Given the description of an element on the screen output the (x, y) to click on. 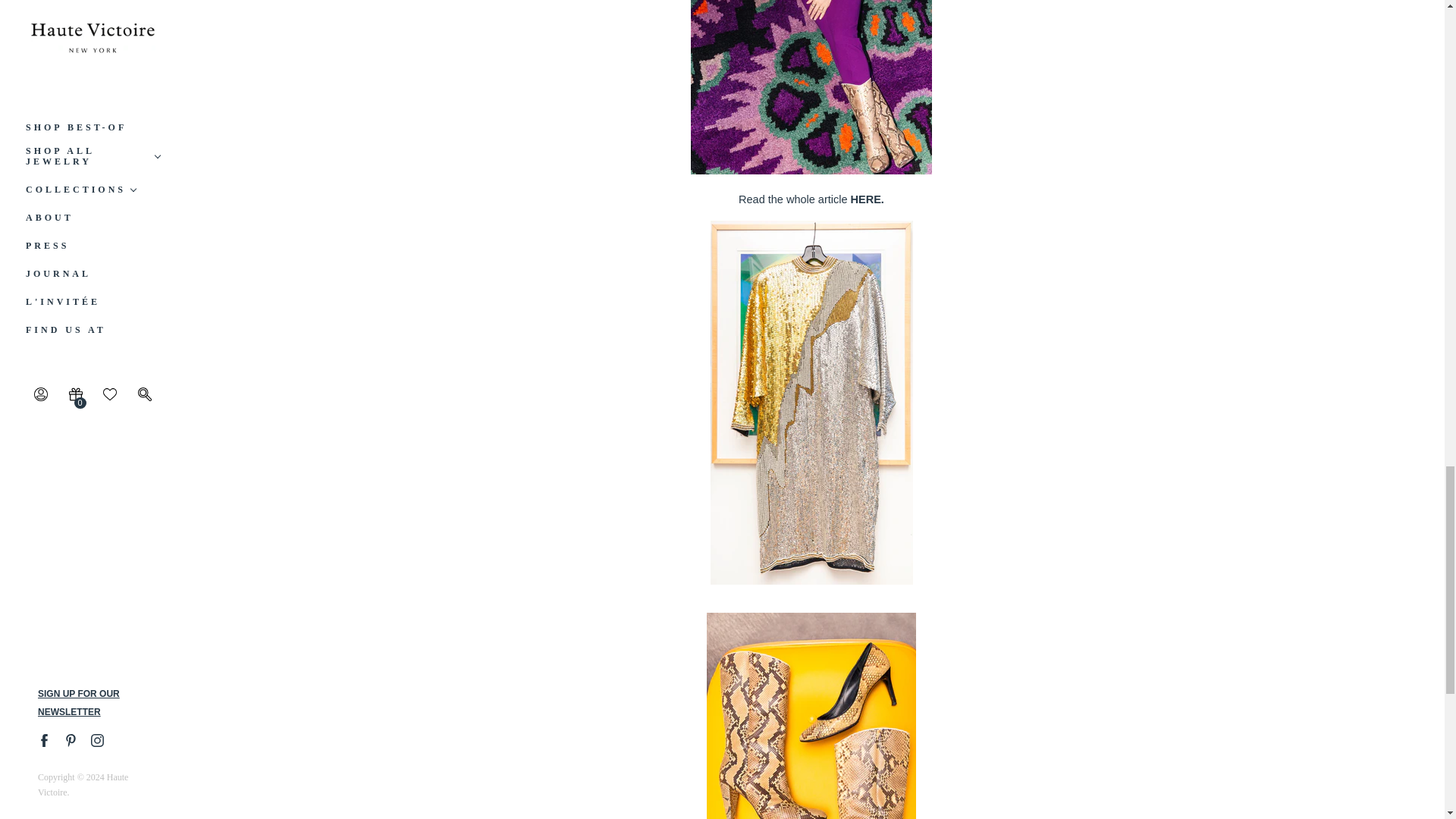
coveteur-yasmina-benazzou-closet-jewelry-designer (866, 199)
